Given the description of an element on the screen output the (x, y) to click on. 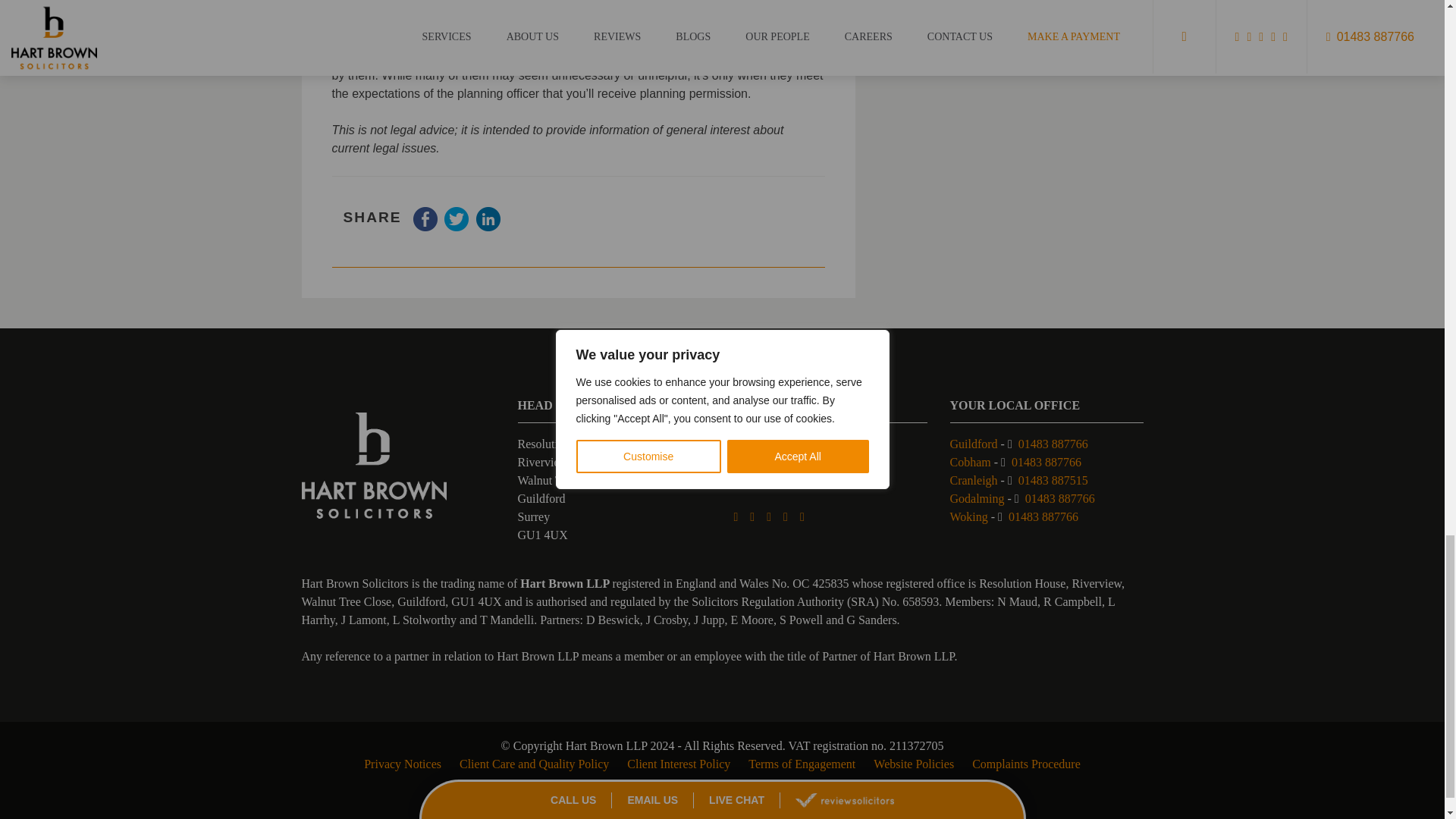
Share on LinkedIn (488, 226)
Share on Facebook (425, 226)
Hart Brown (373, 465)
Tweet (456, 226)
